Given the description of an element on the screen output the (x, y) to click on. 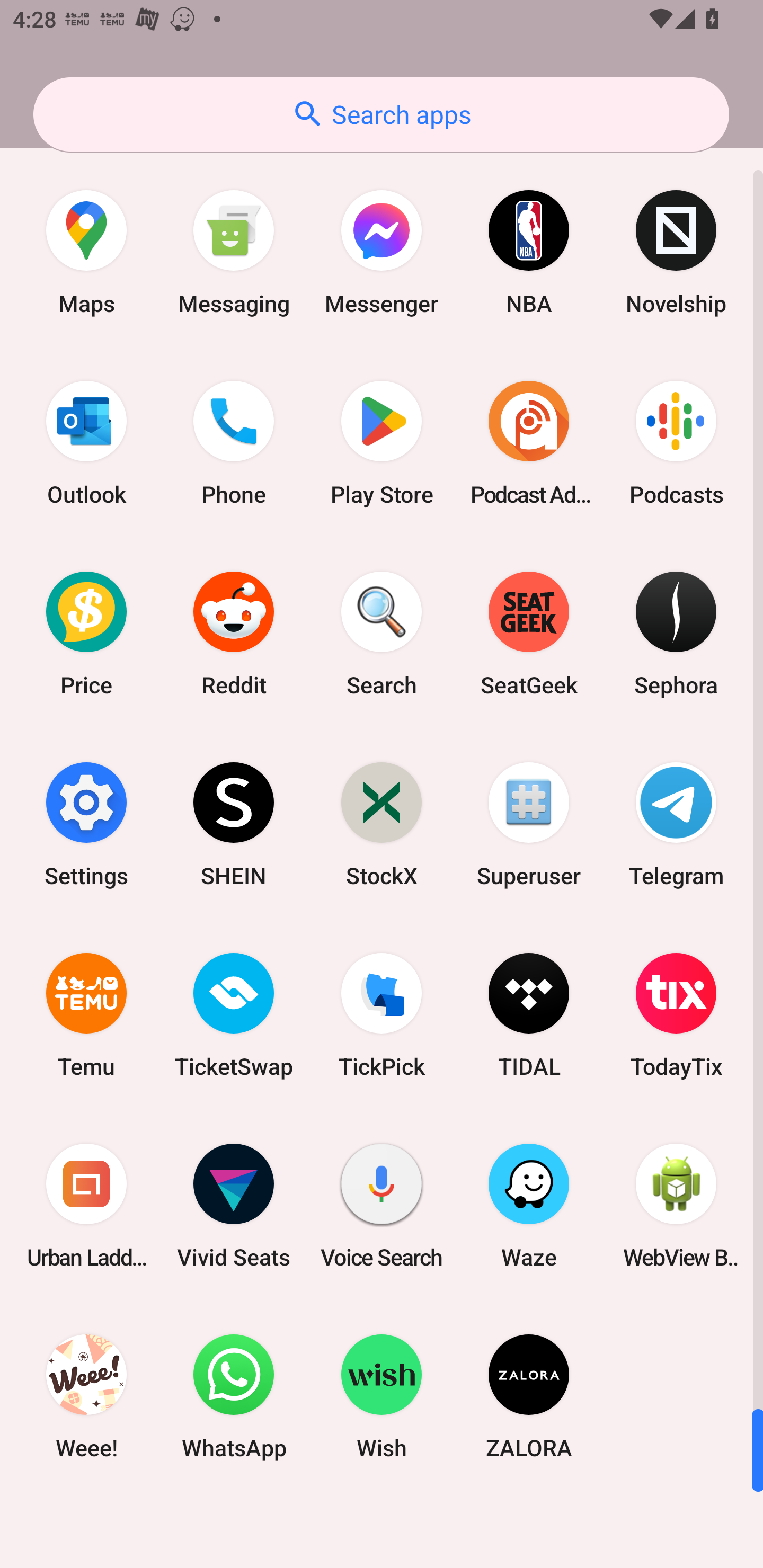
  Search apps (381, 114)
Maps (86, 252)
Messaging (233, 252)
Messenger (381, 252)
NBA (528, 252)
Novelship (676, 252)
Outlook (86, 442)
Phone (233, 442)
Play Store (381, 442)
Podcast Addict (528, 442)
Podcasts (676, 442)
Price (86, 633)
Reddit (233, 633)
Search (381, 633)
SeatGeek (528, 633)
Sephora (676, 633)
Settings (86, 823)
SHEIN (233, 823)
StockX (381, 823)
Superuser (528, 823)
Telegram (676, 823)
Temu (86, 1014)
TicketSwap (233, 1014)
TickPick (381, 1014)
TIDAL (528, 1014)
TodayTix (676, 1014)
Urban Ladder (86, 1205)
Vivid Seats (233, 1205)
Voice Search (381, 1205)
Waze (528, 1205)
WebView Browser Tester (676, 1205)
Weee! (86, 1396)
WhatsApp (233, 1396)
Wish (381, 1396)
ZALORA (528, 1396)
